Given the description of an element on the screen output the (x, y) to click on. 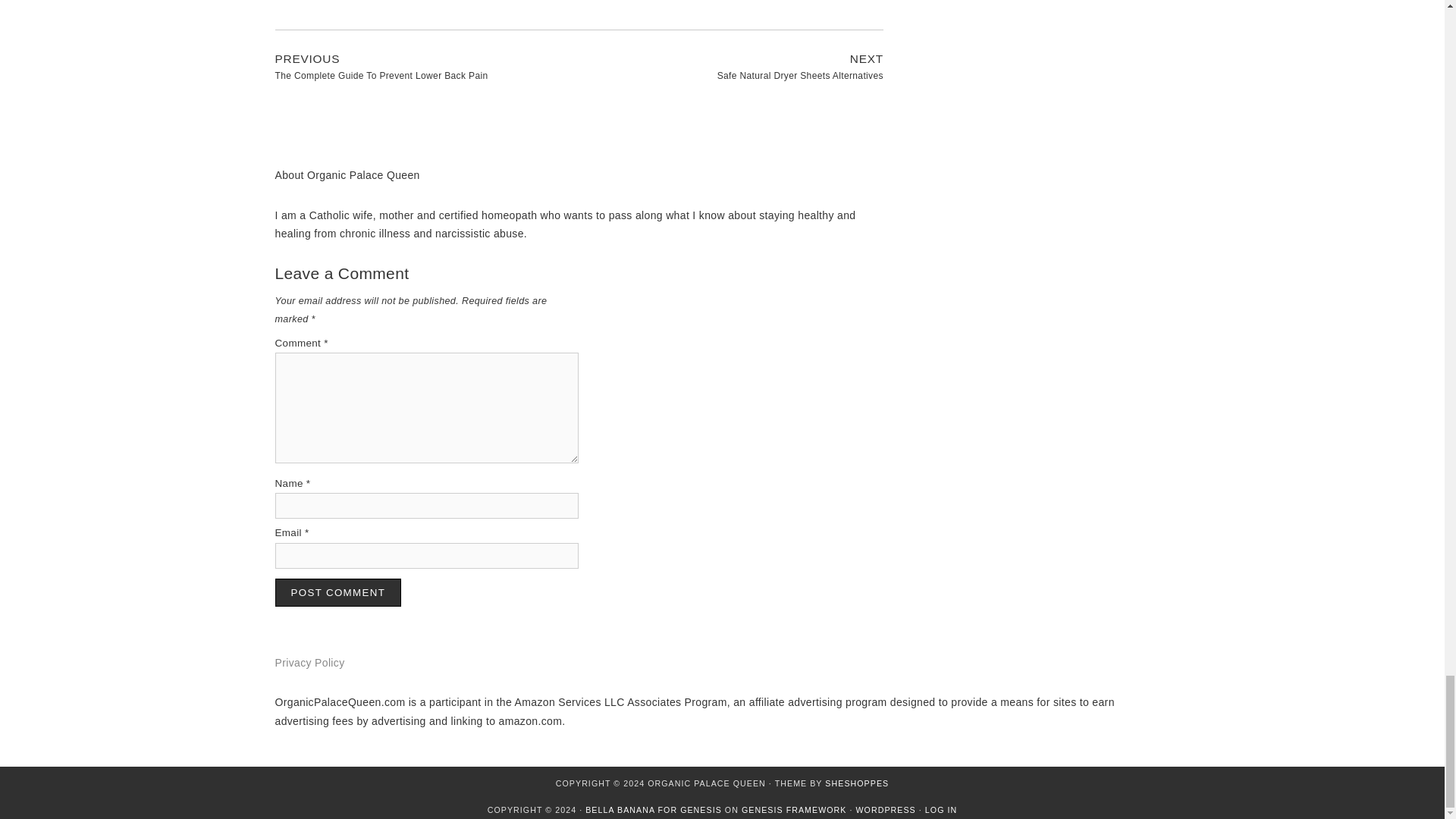
Post Comment (338, 592)
